Given the description of an element on the screen output the (x, y) to click on. 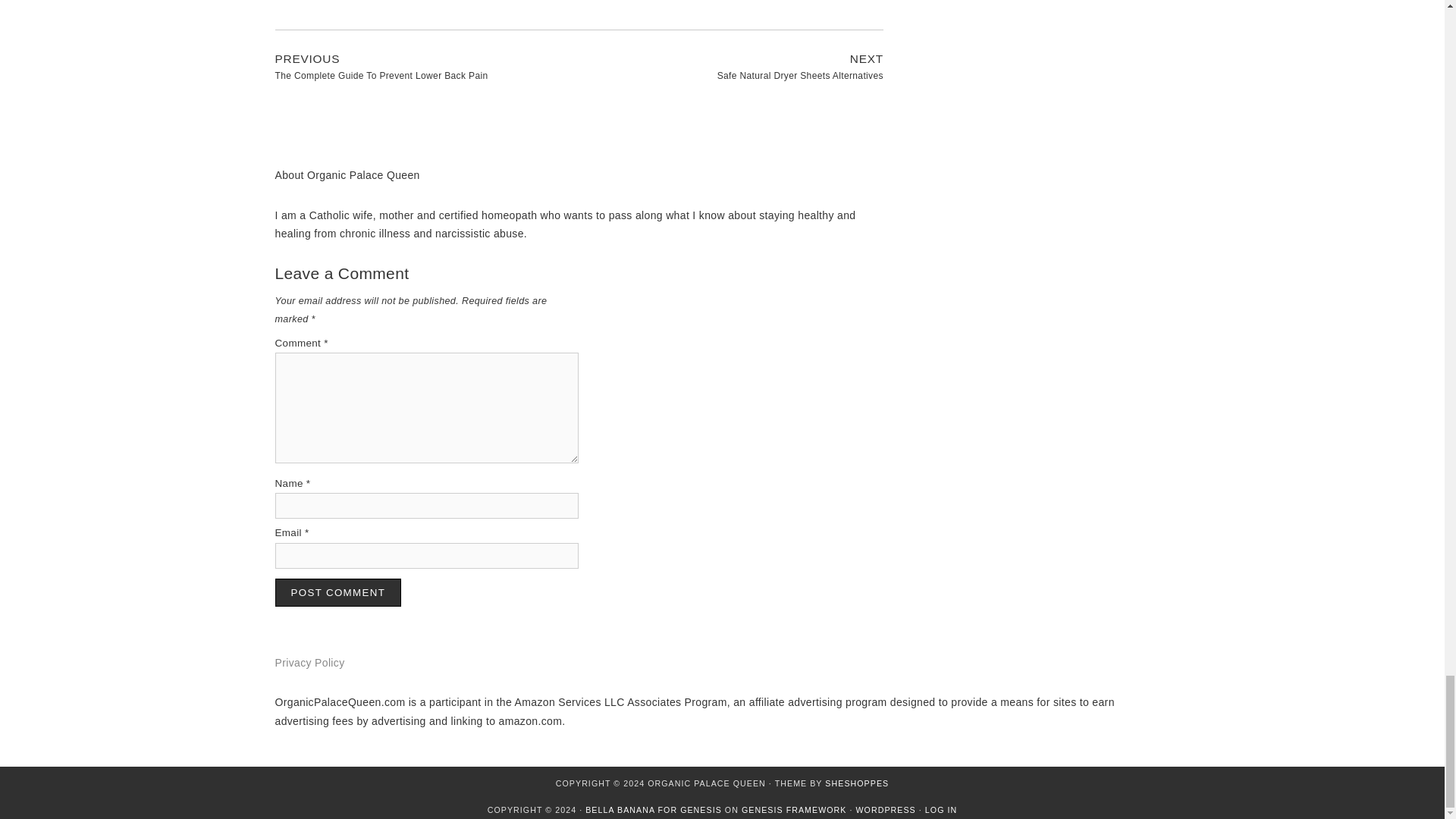
Post Comment (338, 592)
